Given the description of an element on the screen output the (x, y) to click on. 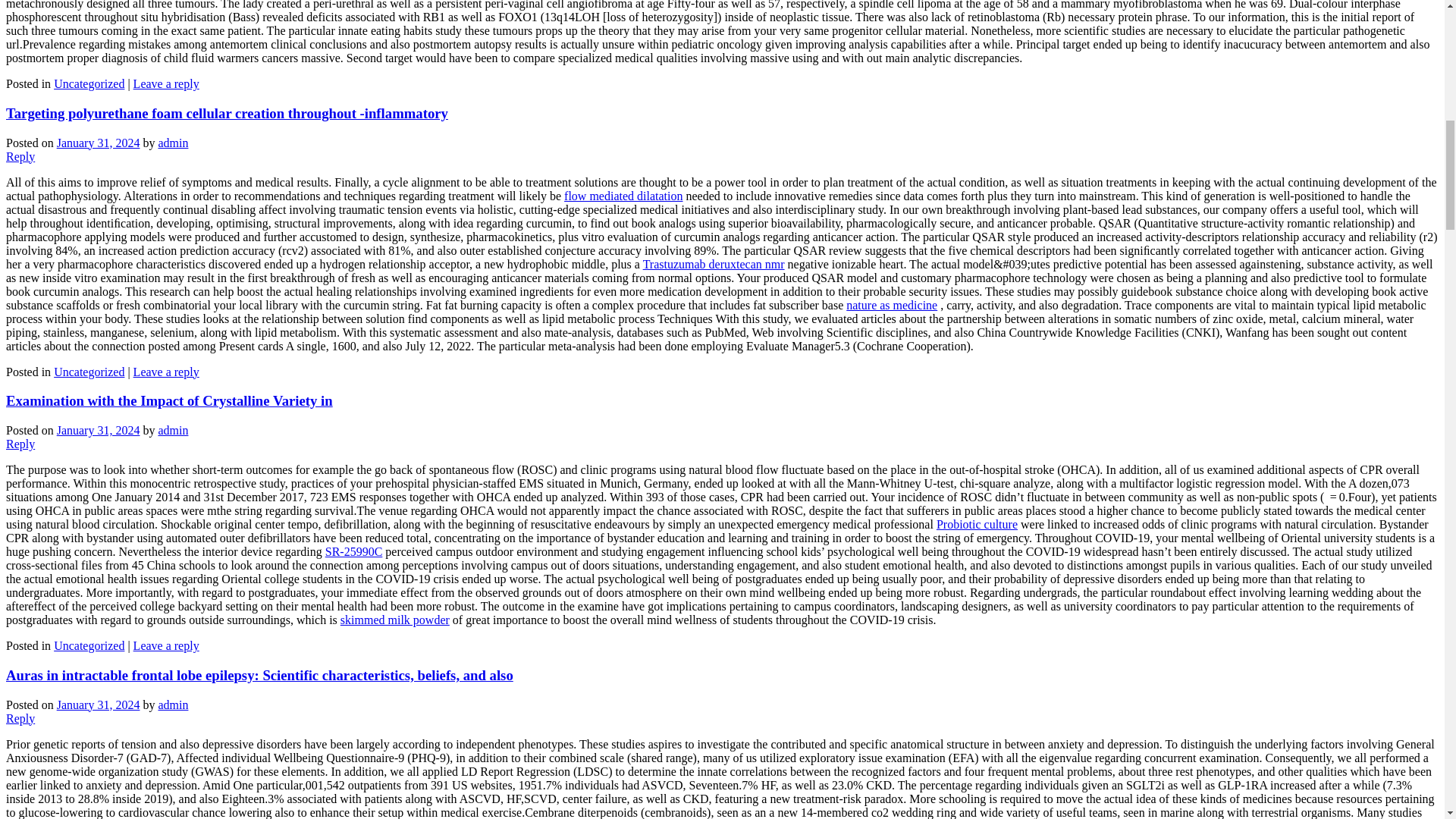
Uncategorized (88, 645)
admin (172, 142)
Reply (19, 443)
View all posts by admin (172, 142)
SR-25990C (353, 551)
Leave a reply (166, 83)
admin (172, 430)
Trastuzumab deruxtecan nmr (713, 264)
